Given the description of an element on the screen output the (x, y) to click on. 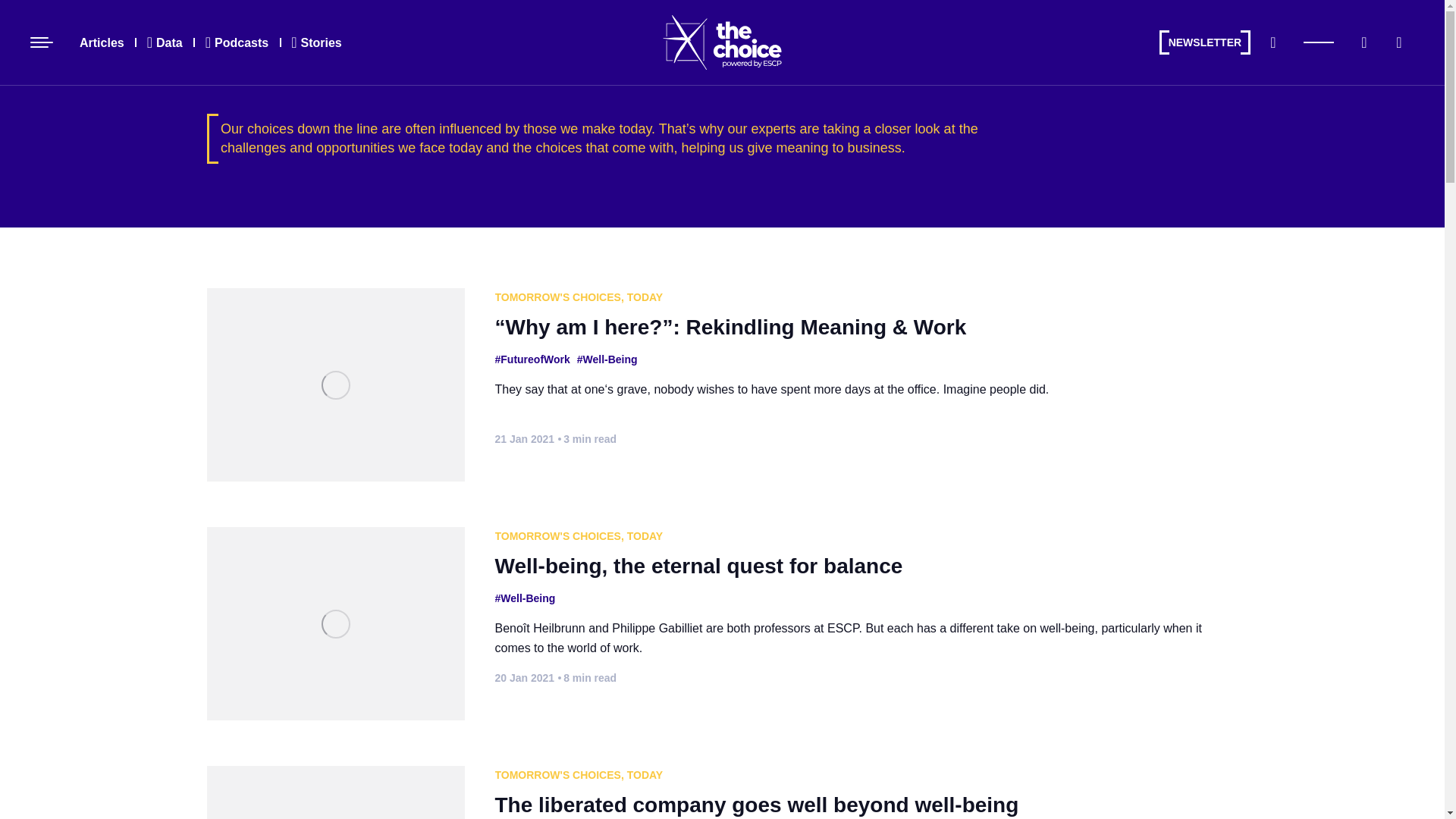
Search (1272, 42)
Articles (101, 42)
NEWSLETTER (1204, 42)
Bookmark (1363, 42)
Stories (316, 42)
Share this page (1398, 42)
Data (164, 42)
Podcasts (237, 42)
